Given the description of an element on the screen output the (x, y) to click on. 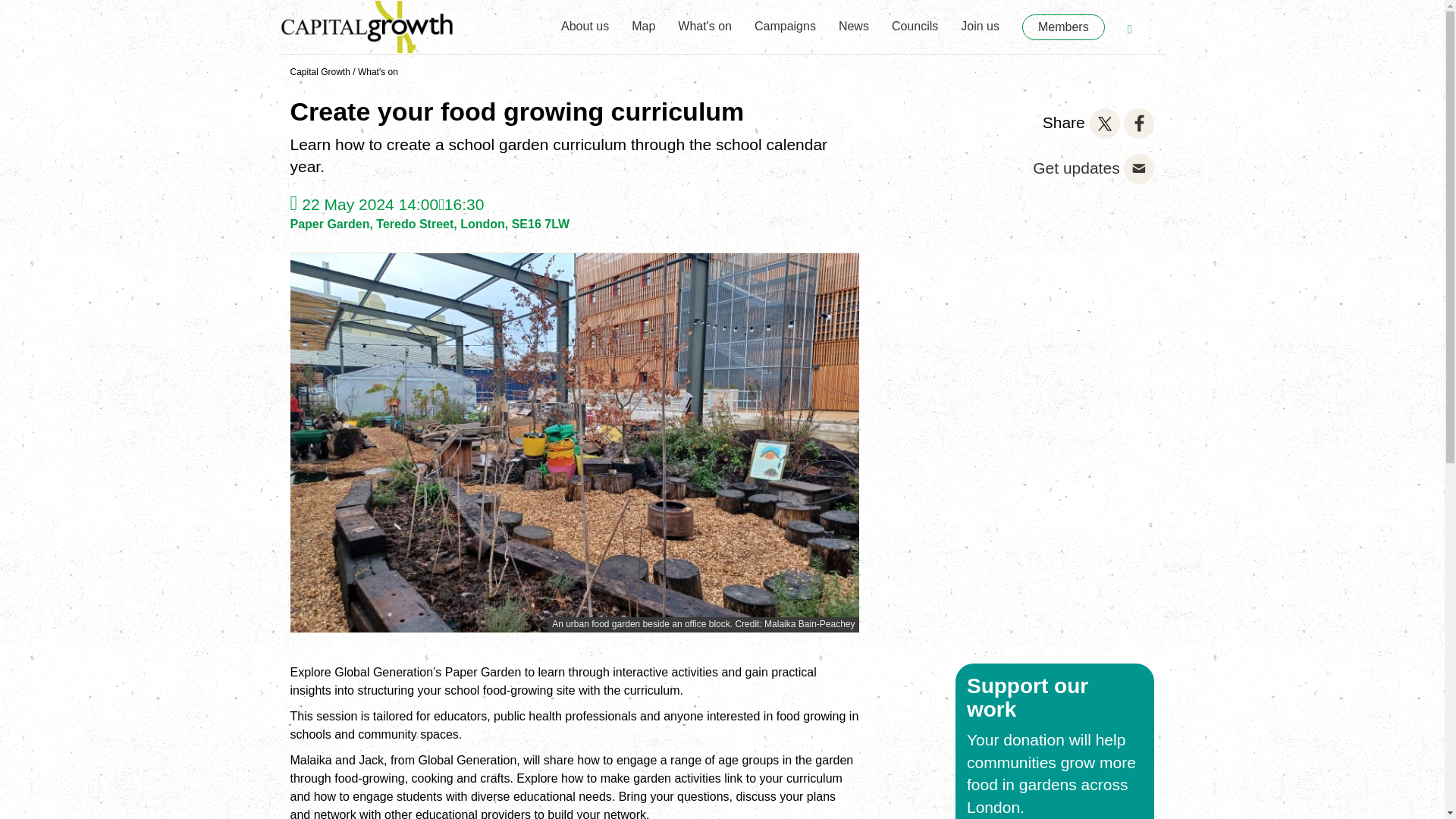
Join us (979, 19)
What's on (705, 19)
Campaigns (784, 19)
About us (584, 19)
What's on (377, 71)
Councils (914, 19)
Capital Growth (319, 71)
Get updates (1075, 167)
Members (1063, 27)
